Given the description of an element on the screen output the (x, y) to click on. 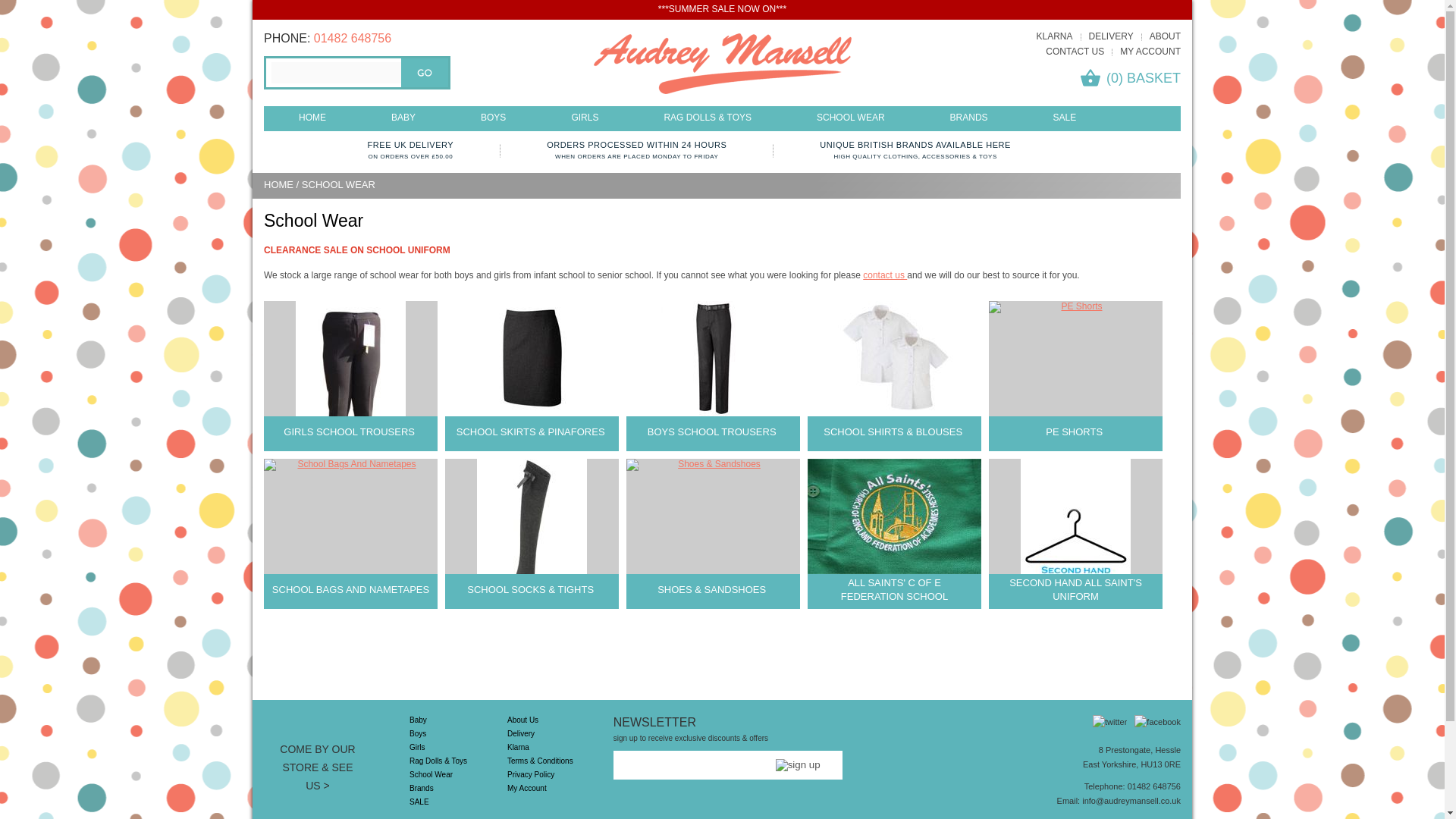
BABY (402, 117)
DELIVERY (1111, 36)
HOME (312, 117)
BOYS (492, 117)
ABOUT (1165, 36)
KLARNA (1053, 36)
CONTACT US (1074, 50)
MY ACCOUNT (1149, 50)
sign up (798, 765)
BASKET (1153, 77)
